Given the description of an element on the screen output the (x, y) to click on. 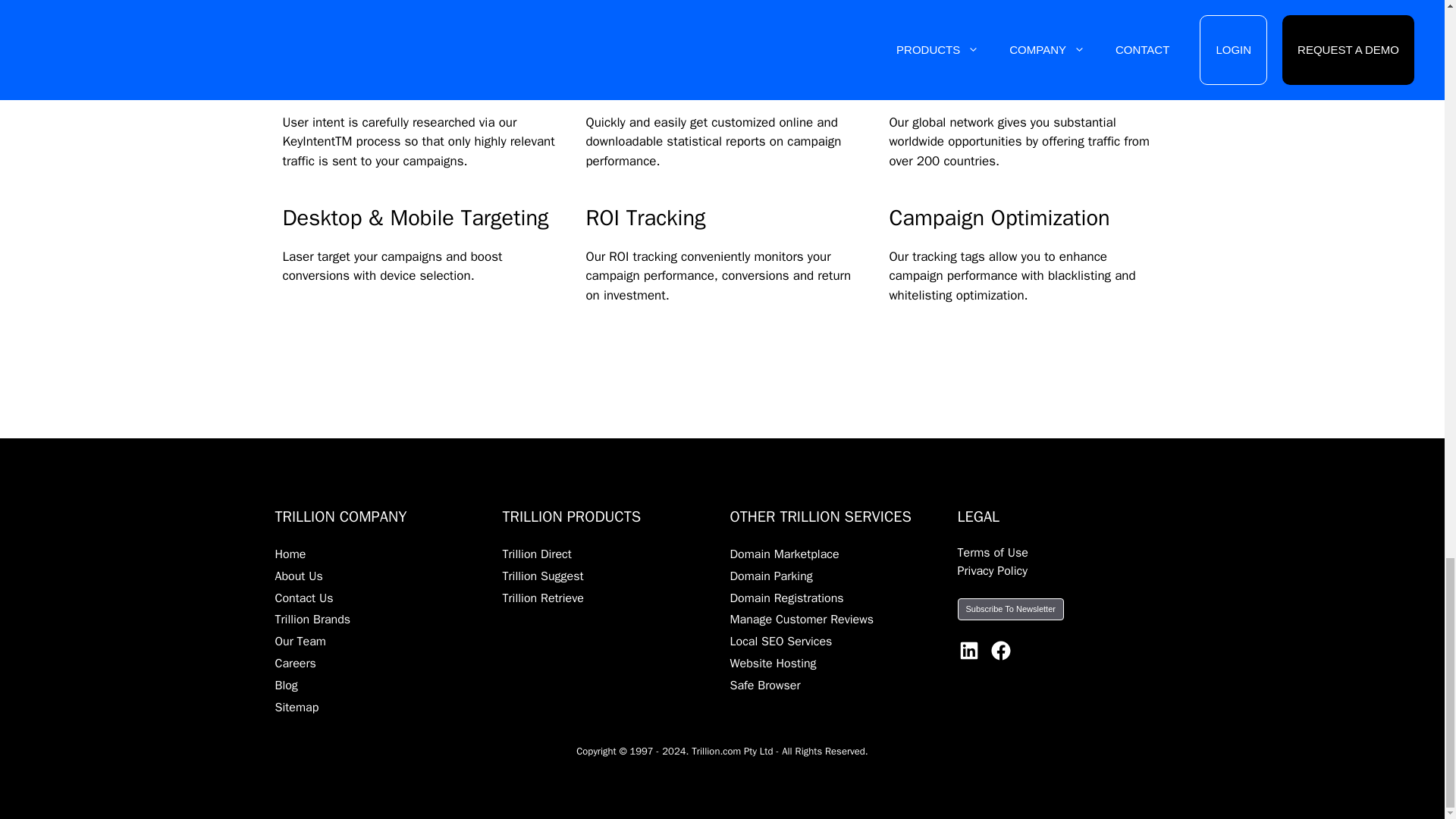
Home (290, 554)
Careers (295, 663)
Trillion Brands (312, 619)
About Us (298, 575)
Our Team (299, 641)
Contact Us (304, 598)
